Given the description of an element on the screen output the (x, y) to click on. 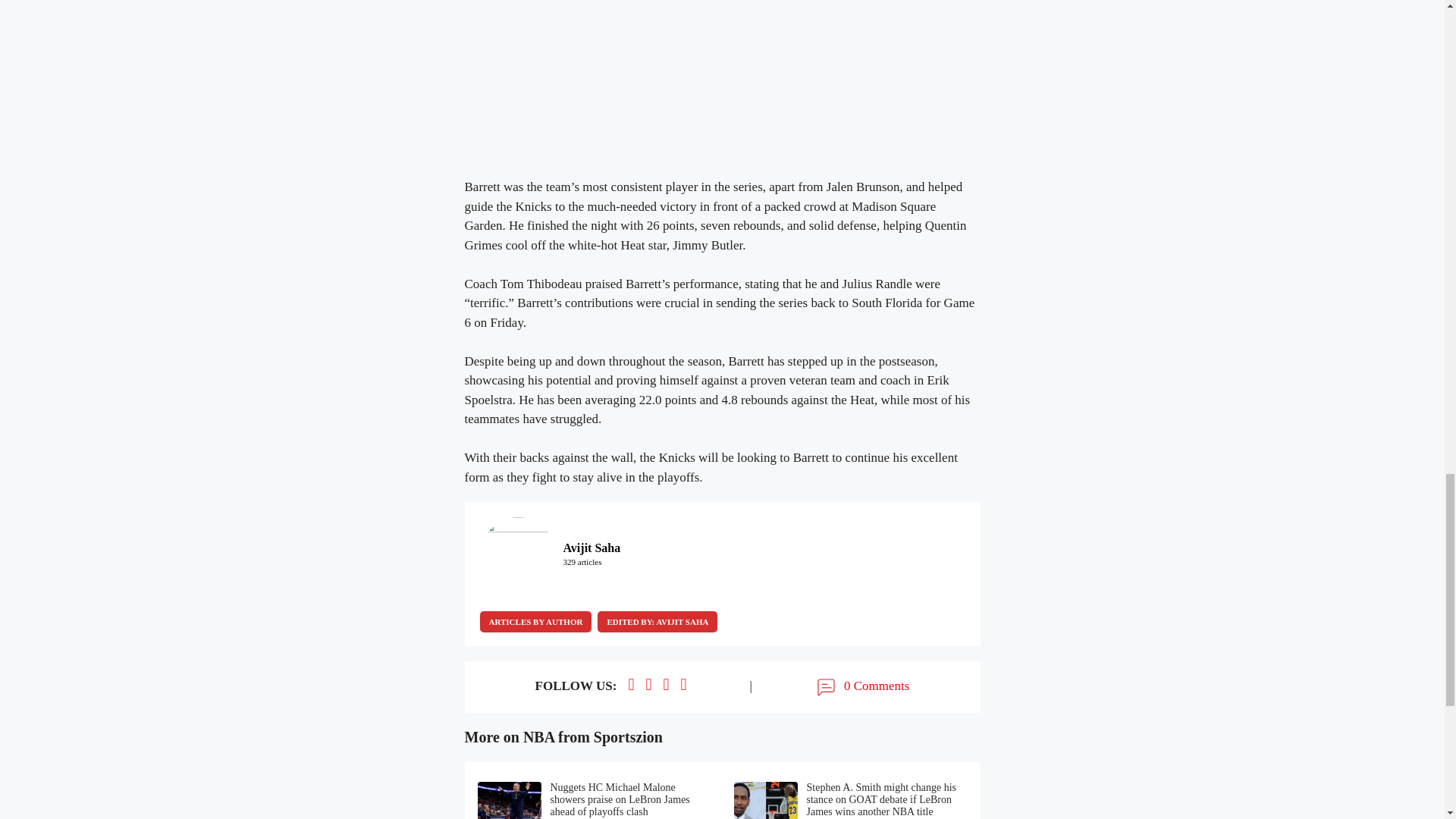
EDITED BY: AVIJIT SAHA (656, 621)
0 Comments (861, 686)
ARTICLES BY AUTHOR (535, 621)
